Given the description of an element on the screen output the (x, y) to click on. 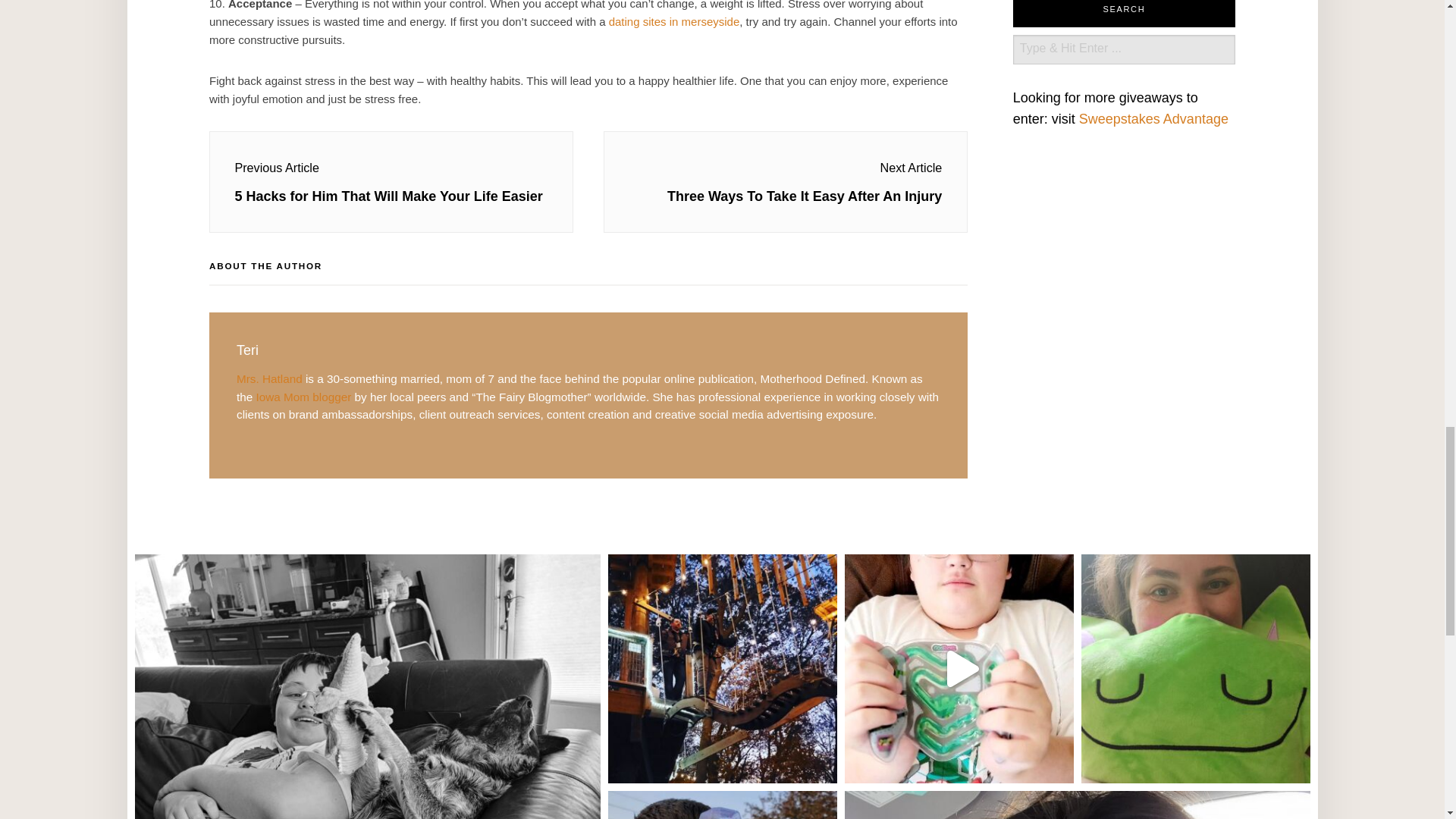
Posts by Teri (247, 350)
